Given the description of an element on the screen output the (x, y) to click on. 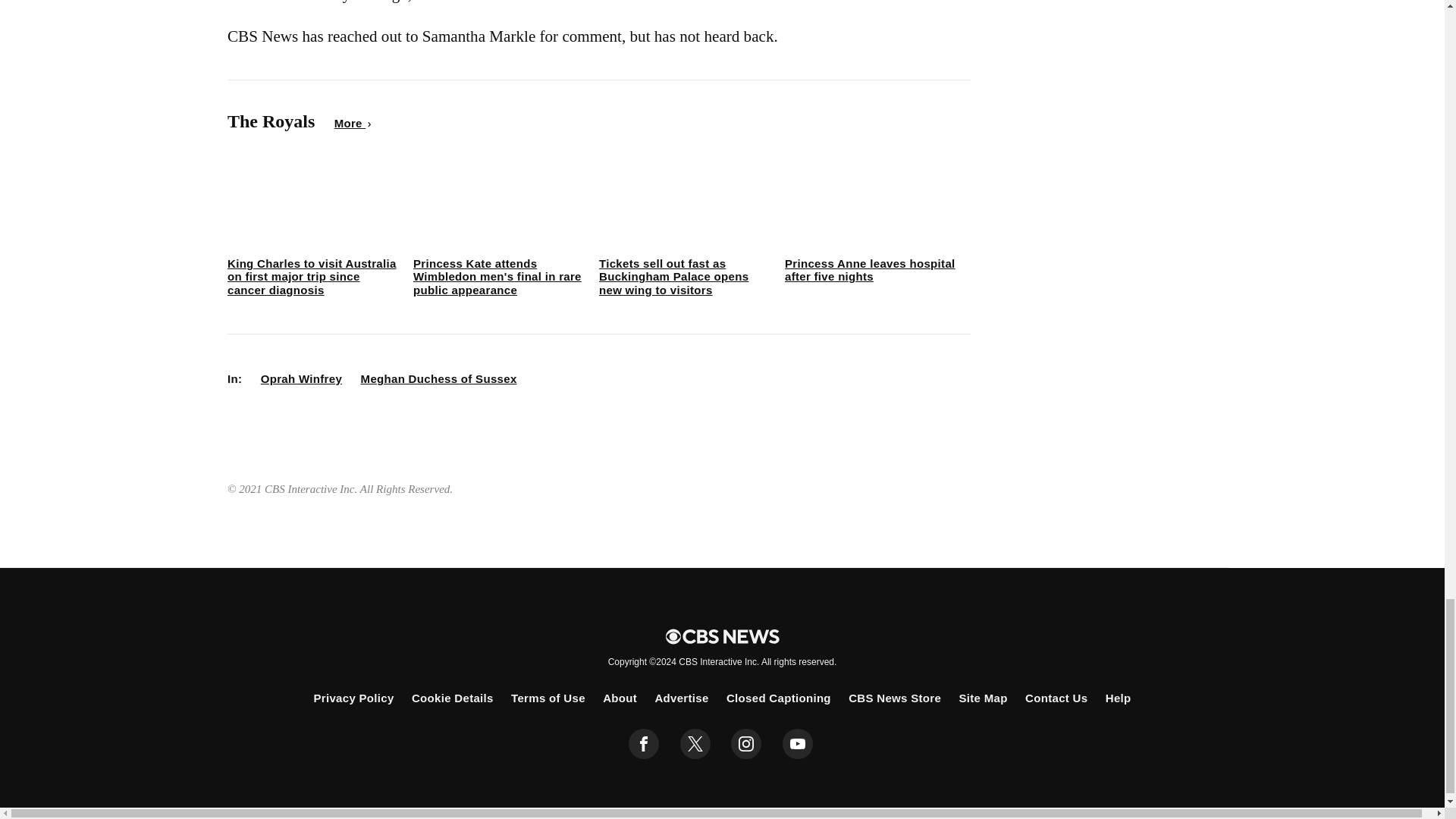
twitter (694, 743)
instagram (745, 743)
youtube (797, 743)
facebook (643, 743)
